Given the description of an element on the screen output the (x, y) to click on. 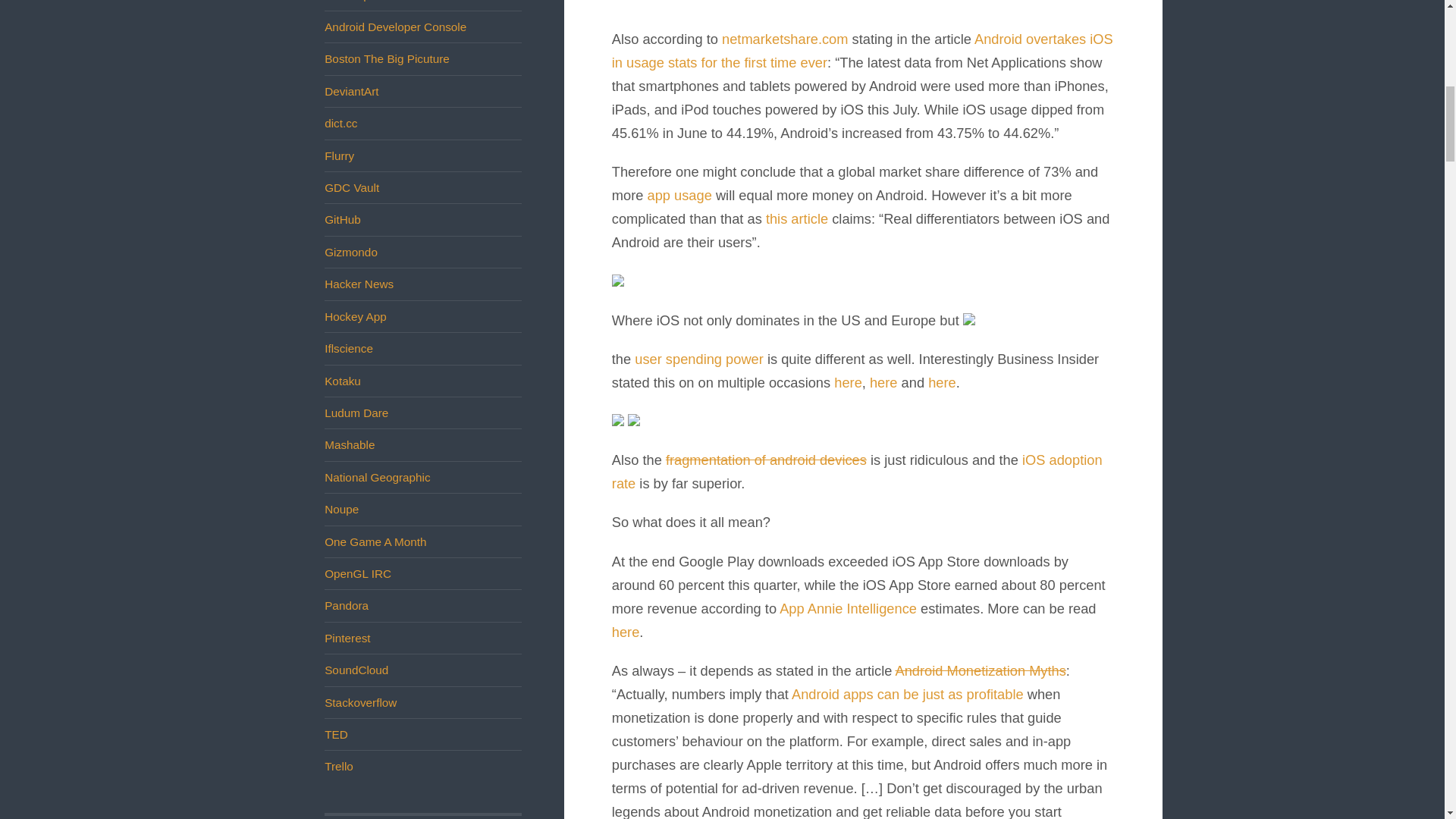
GDC Vault (351, 187)
Ludum Dare (356, 412)
One Game A Month (375, 541)
Kotaku (342, 380)
A List Apart (353, 0)
GDC Vault (351, 187)
Ludum Dare (356, 412)
Iflscience (348, 348)
Iflscience (348, 348)
dictionary (340, 123)
dict.cc (340, 123)
Android Developer Console (394, 26)
DeviantArt (351, 91)
Pinterest (346, 637)
OpenGL IRC (357, 573)
